Given the description of an element on the screen output the (x, y) to click on. 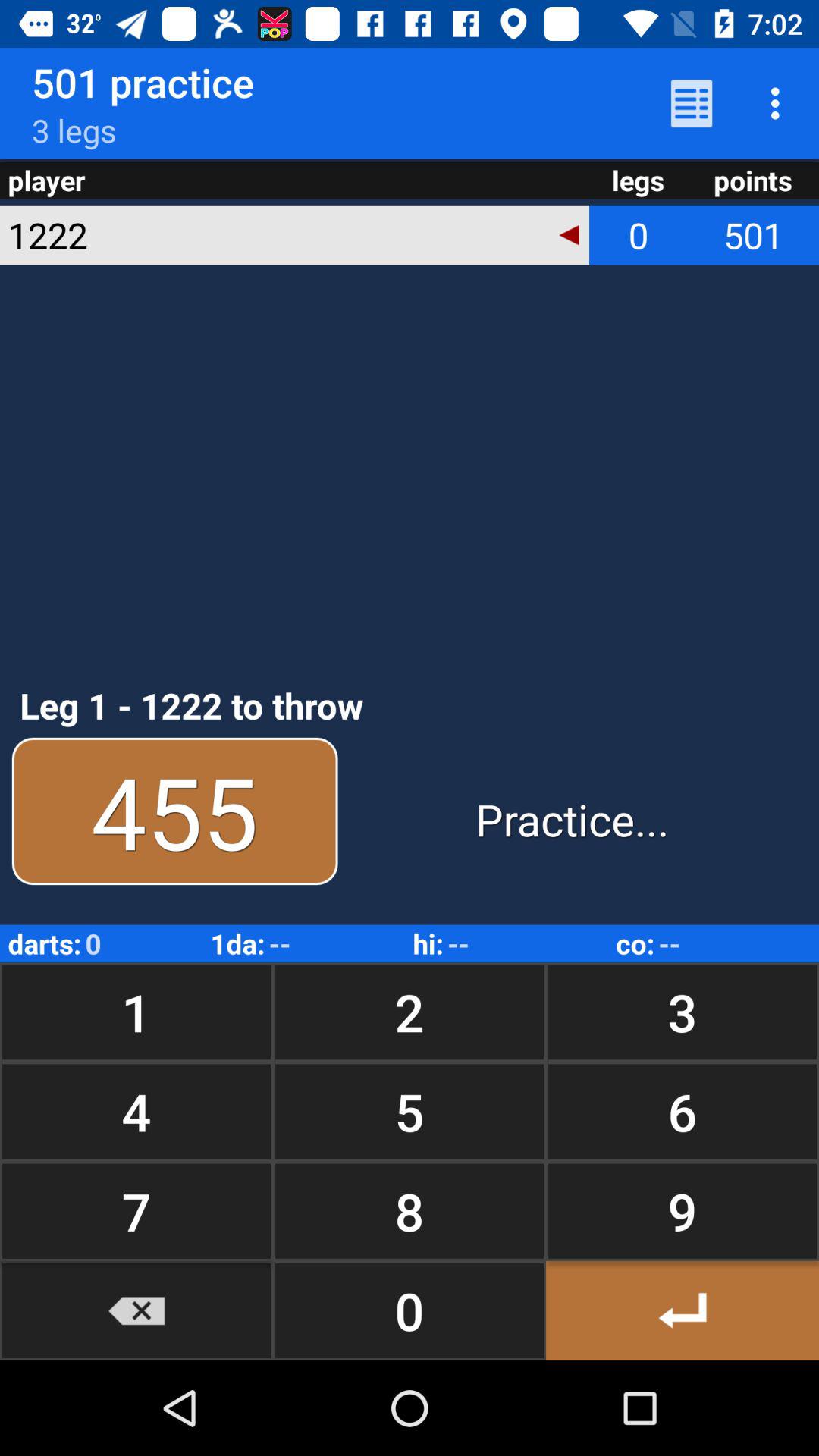
open the icon to the right of 8 item (682, 1310)
